Given the description of an element on the screen output the (x, y) to click on. 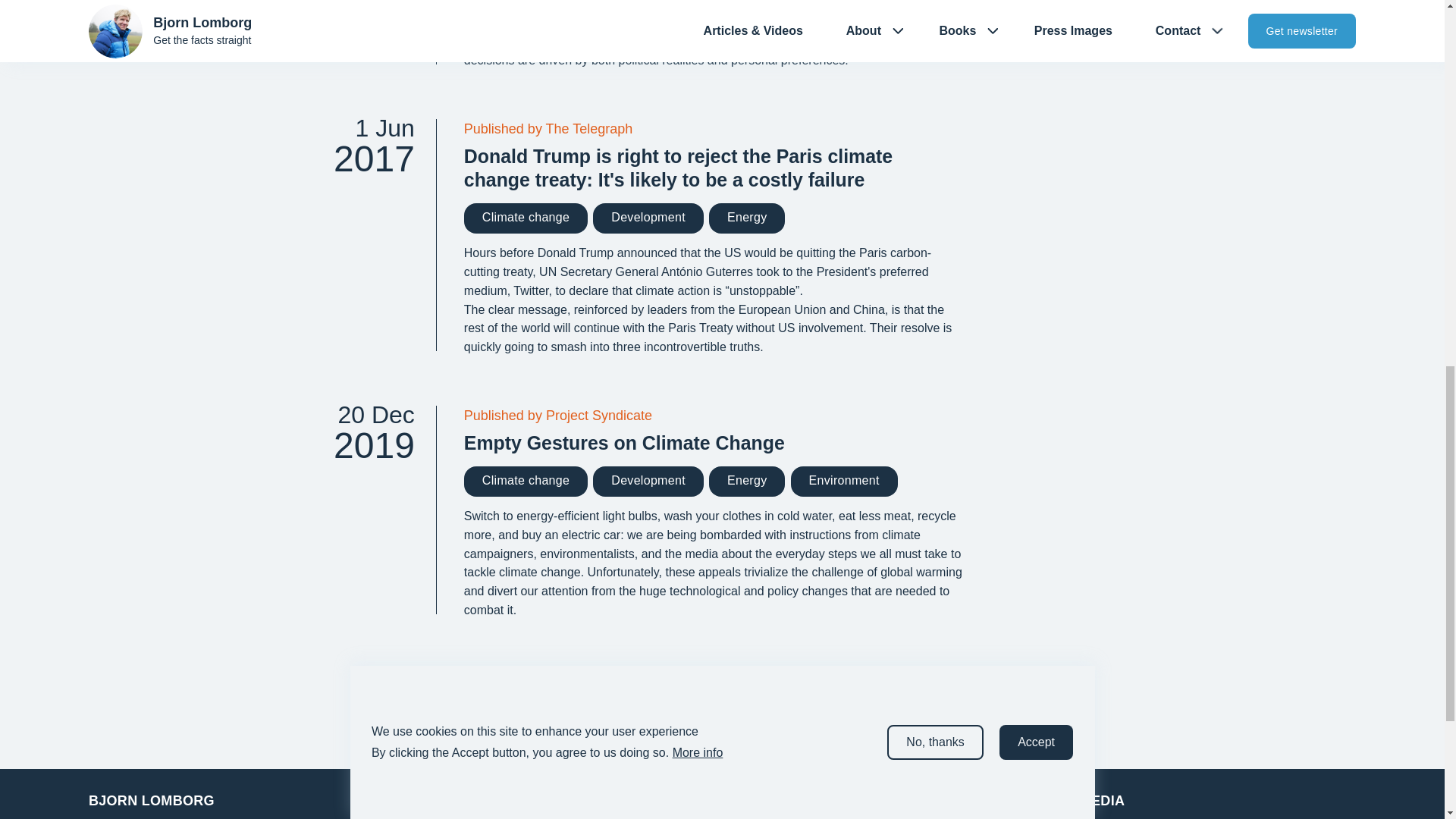
Climate change (713, 218)
Development (526, 218)
Published by The Telegraph (647, 218)
Energy (713, 128)
